Given the description of an element on the screen output the (x, y) to click on. 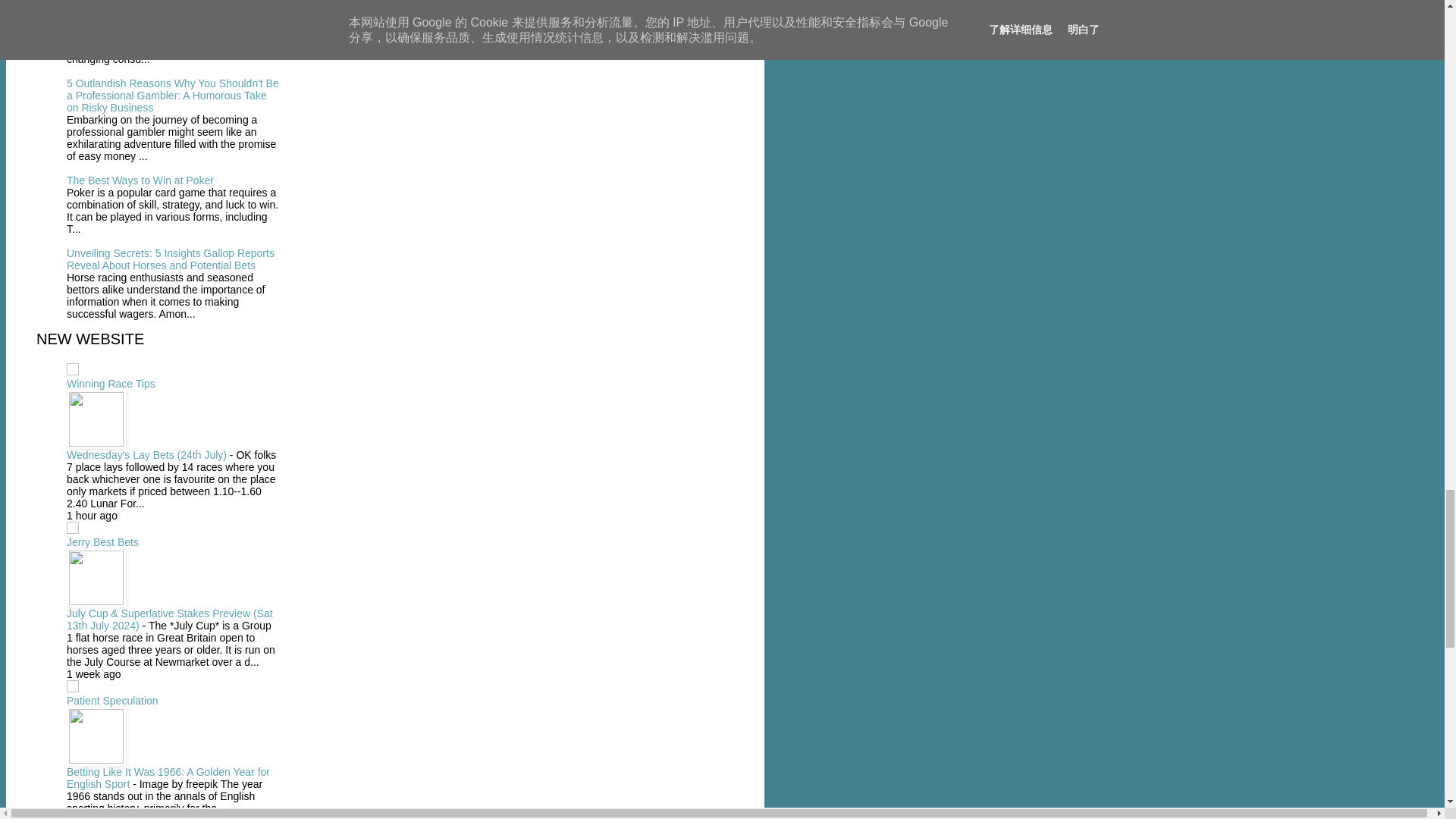
Winning Race Tips (110, 383)
The Best Ways to Win at Poker (140, 180)
How Has Online Gambling Changed In The Last Decade? (168, 8)
